Given the description of an element on the screen output the (x, y) to click on. 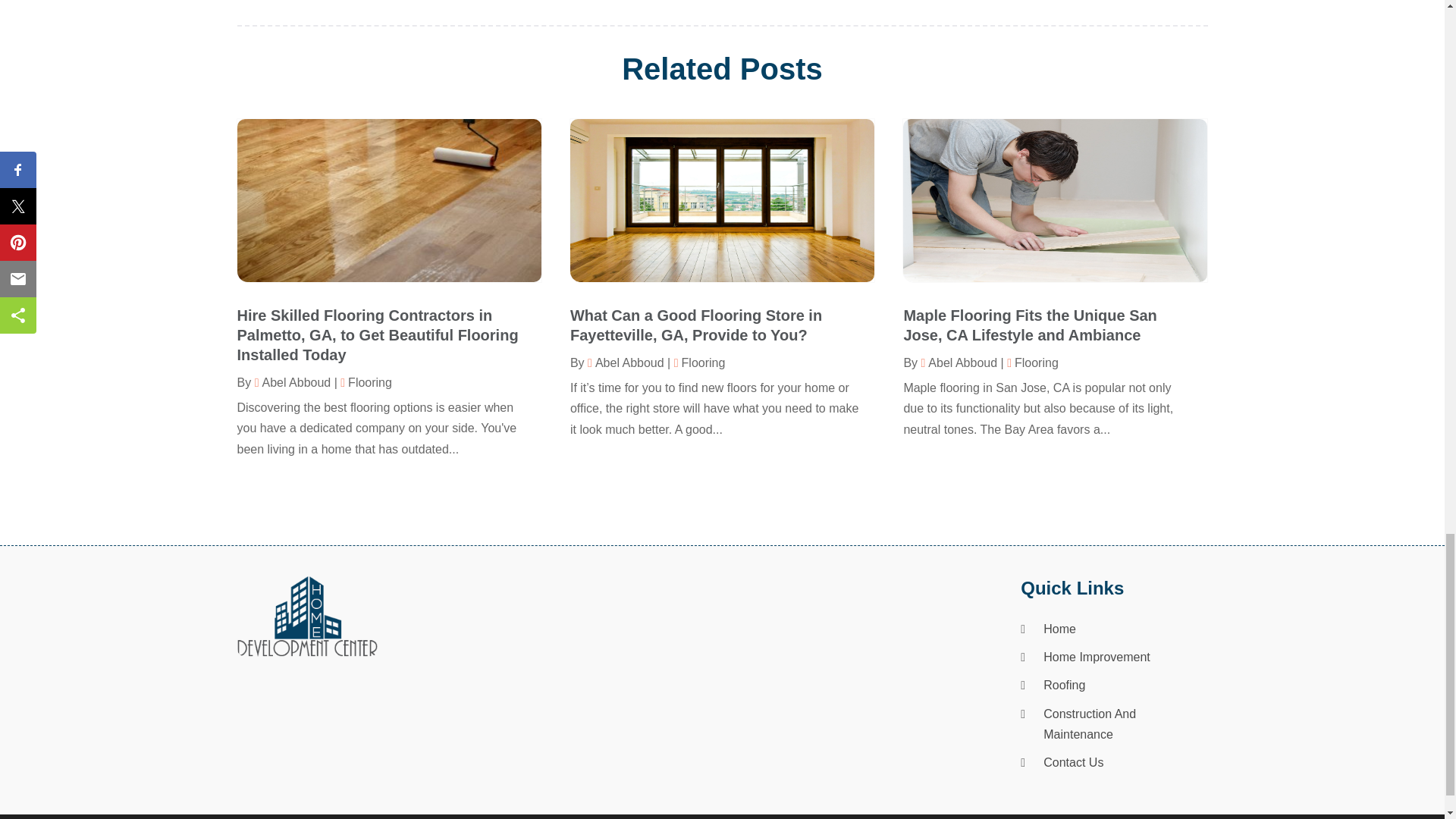
Posts by Abel Abboud (958, 362)
Posts by Abel Abboud (292, 382)
Home Development Center - Footer Logo (306, 616)
Cleaning (935, 10)
Posts by Abel Abboud (625, 362)
